Given the description of an element on the screen output the (x, y) to click on. 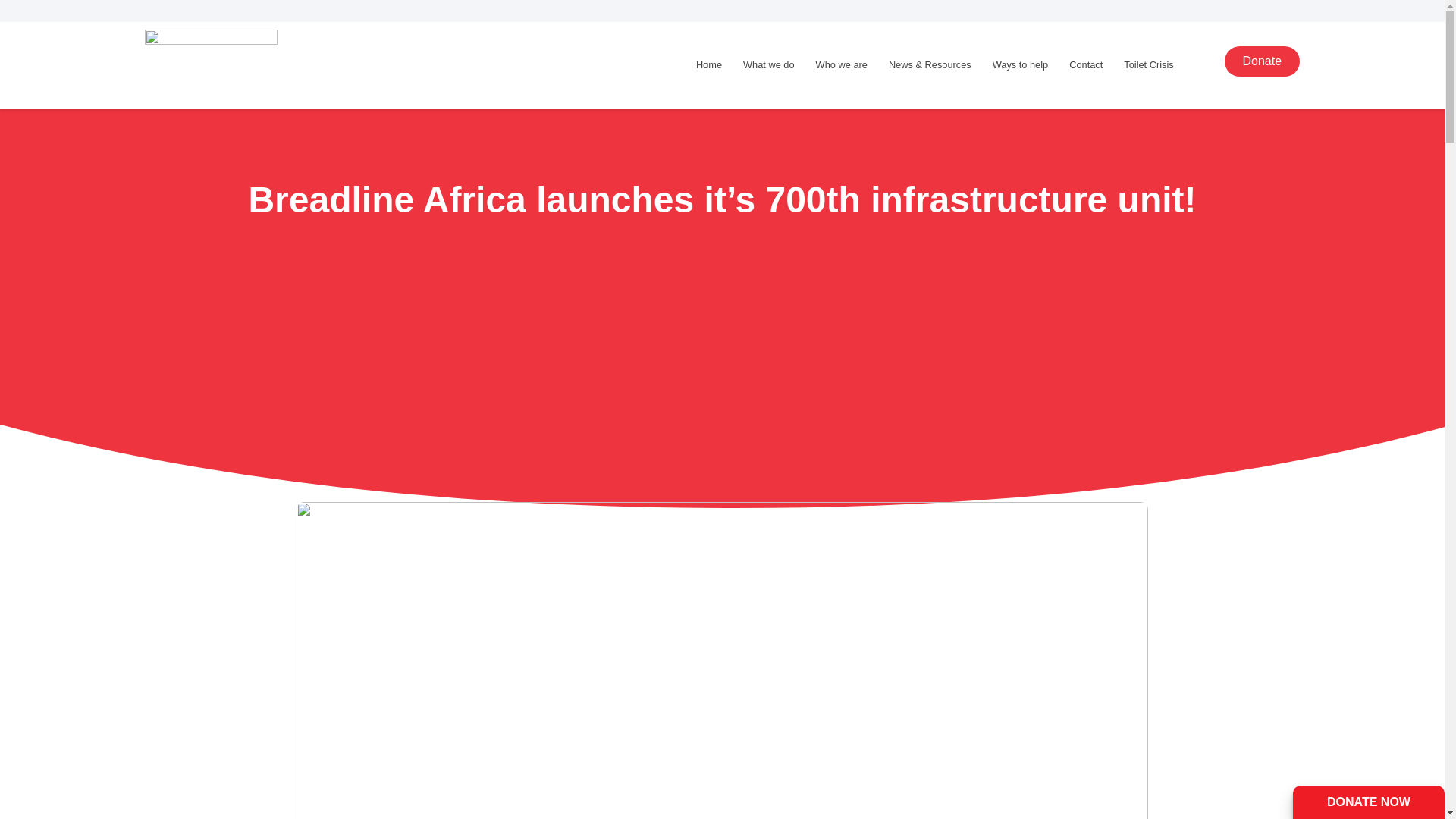
Contact (1085, 64)
Ways to help (1020, 64)
What we do (768, 64)
Who we are (841, 64)
Toilet Crisis (1148, 64)
Home (708, 64)
